Given the description of an element on the screen output the (x, y) to click on. 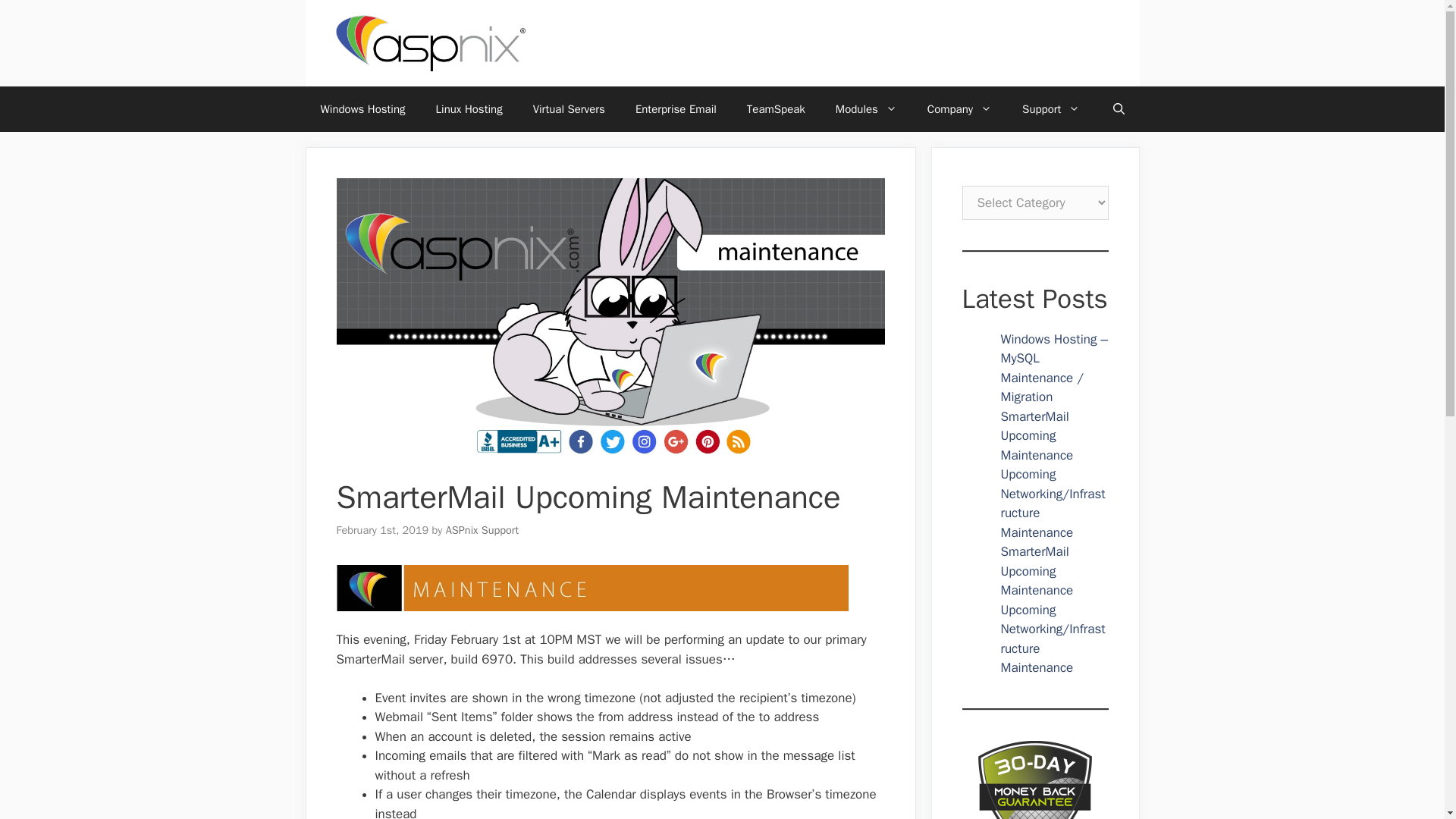
Linux Hosting (469, 108)
Support (1050, 108)
Enterprise Email (676, 108)
Company (959, 108)
Windows Hosting (362, 108)
ASPnix Support (481, 530)
TeamSpeak (776, 108)
Hosted Email (676, 108)
Modules (866, 108)
TeamSpeak (776, 108)
Company (959, 108)
Virtual Servers (569, 108)
Virtual Cloud Servers (569, 108)
WHMCS Modules (866, 108)
Support (1050, 108)
